Given the description of an element on the screen output the (x, y) to click on. 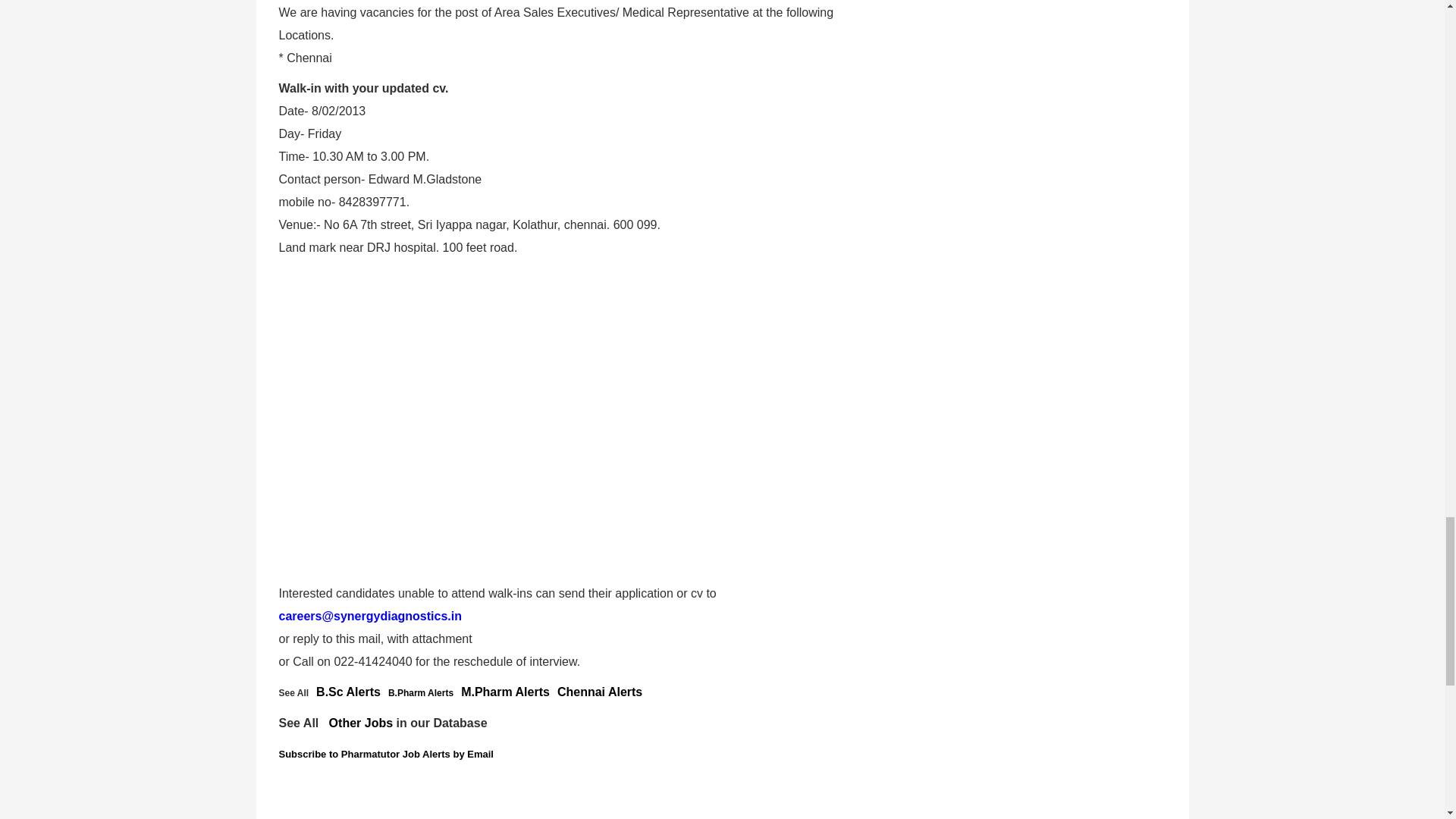
Advertisement (571, 515)
